Given the description of an element on the screen output the (x, y) to click on. 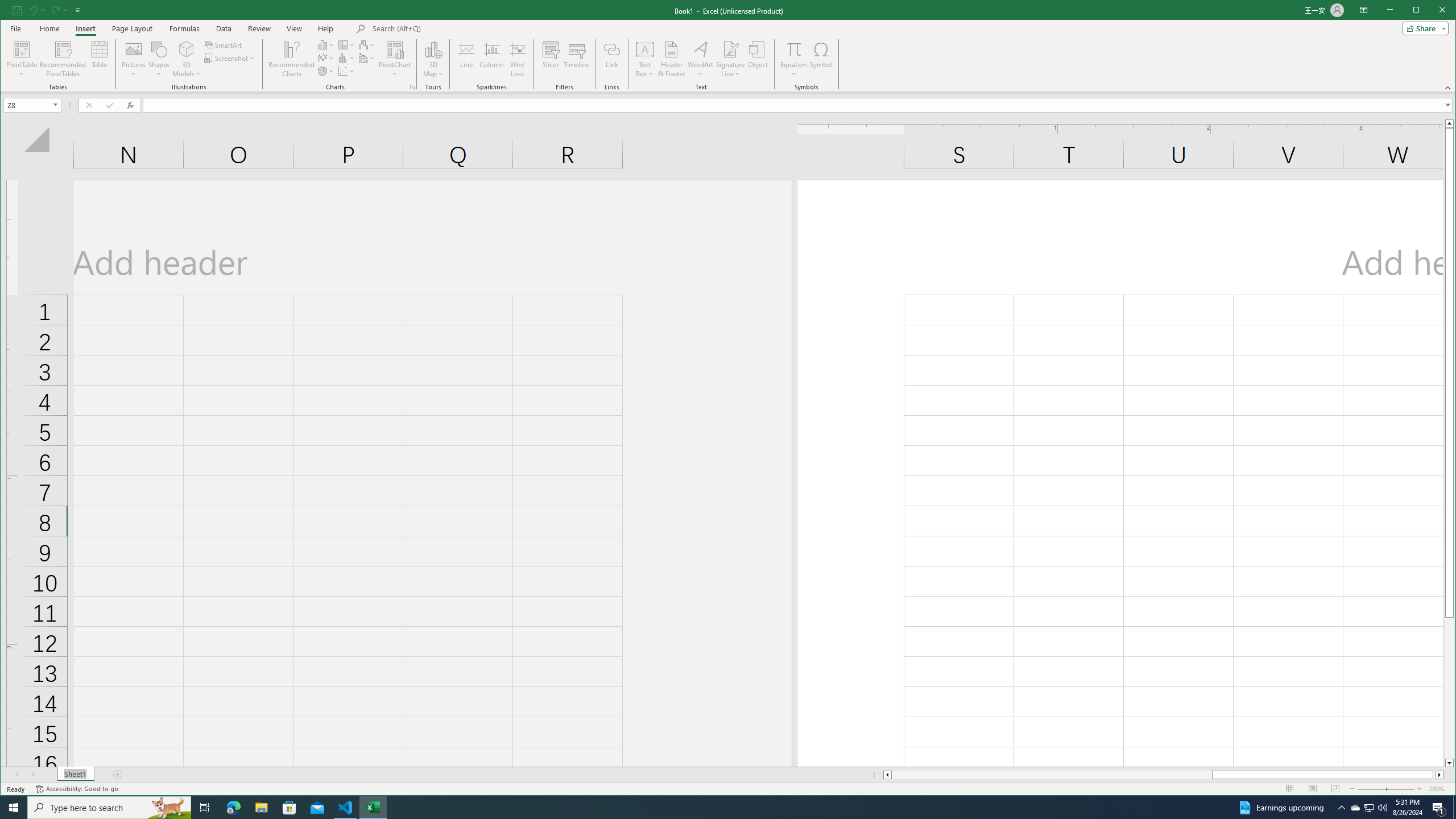
Microsoft Edge (233, 807)
User Promoted Notification Area (1368, 807)
Timeline (576, 59)
Visual Studio Code - 1 running window (345, 807)
Insert Hierarchy Chart (346, 44)
Insert Pie or Doughnut Chart (325, 70)
